Given the description of an element on the screen output the (x, y) to click on. 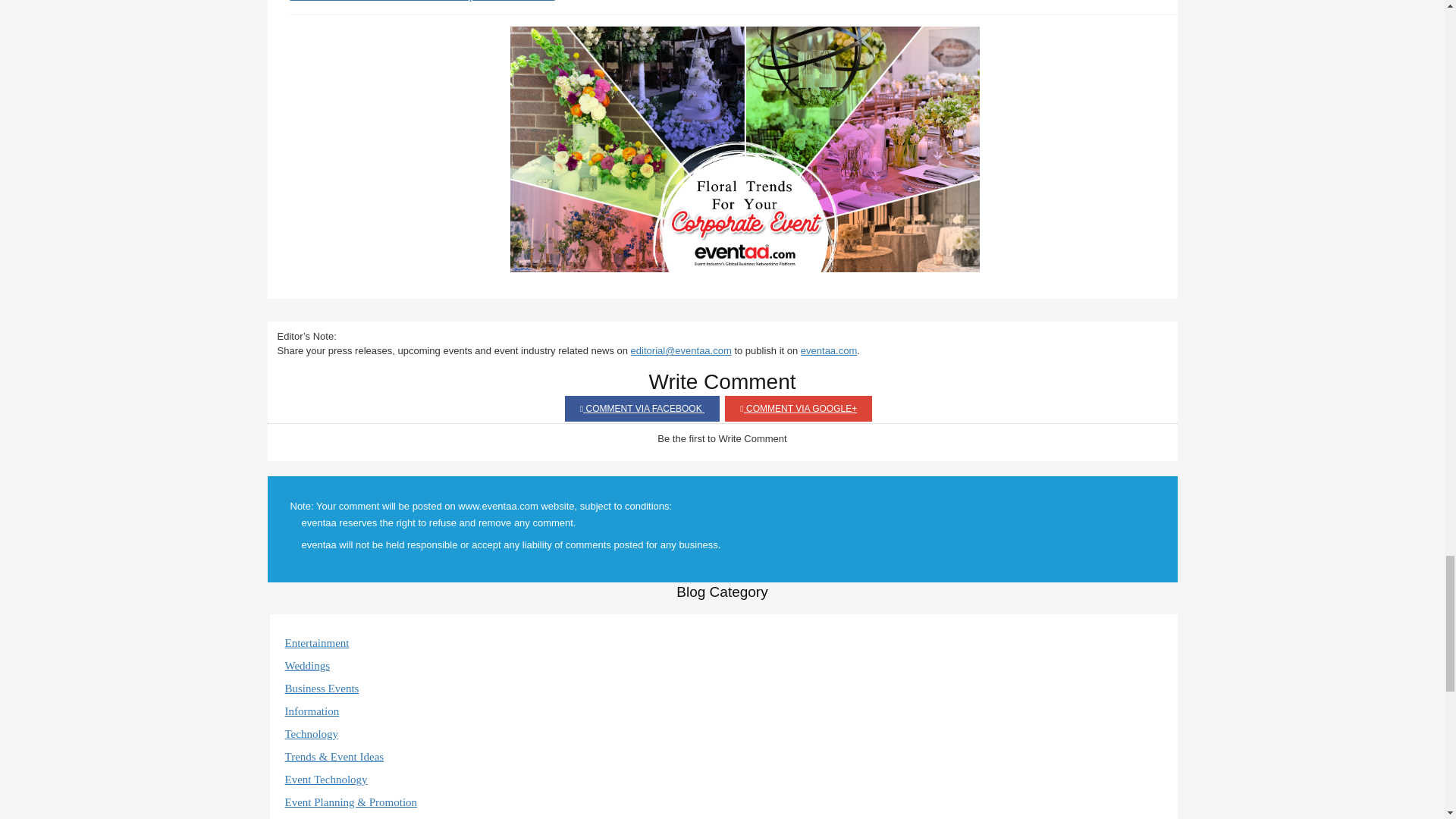
Facebook (641, 408)
Google Plus (798, 408)
